Given the description of an element on the screen output the (x, y) to click on. 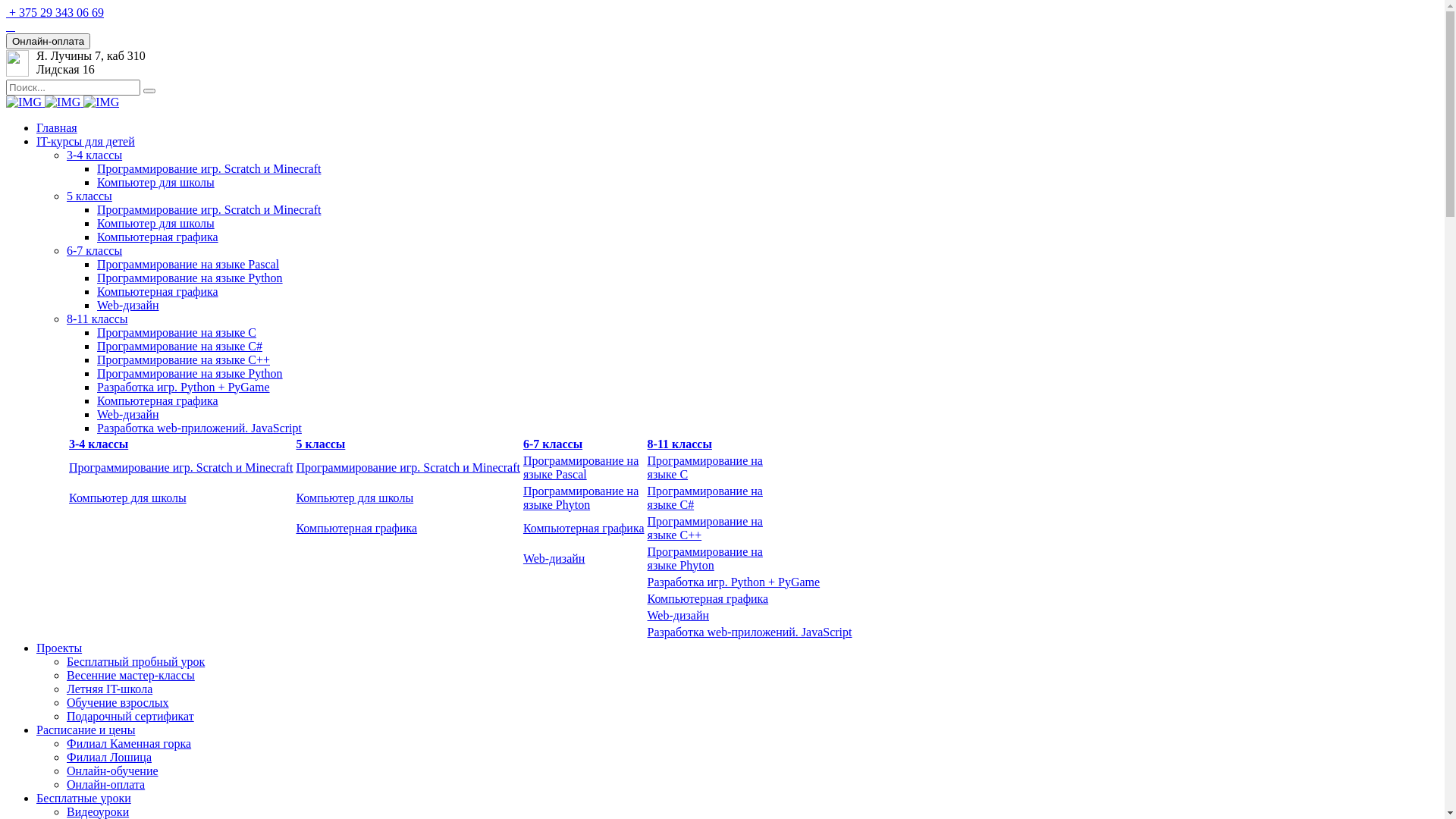
+ 375 29 343 06 69 Element type: text (54, 12)
